Given the description of an element on the screen output the (x, y) to click on. 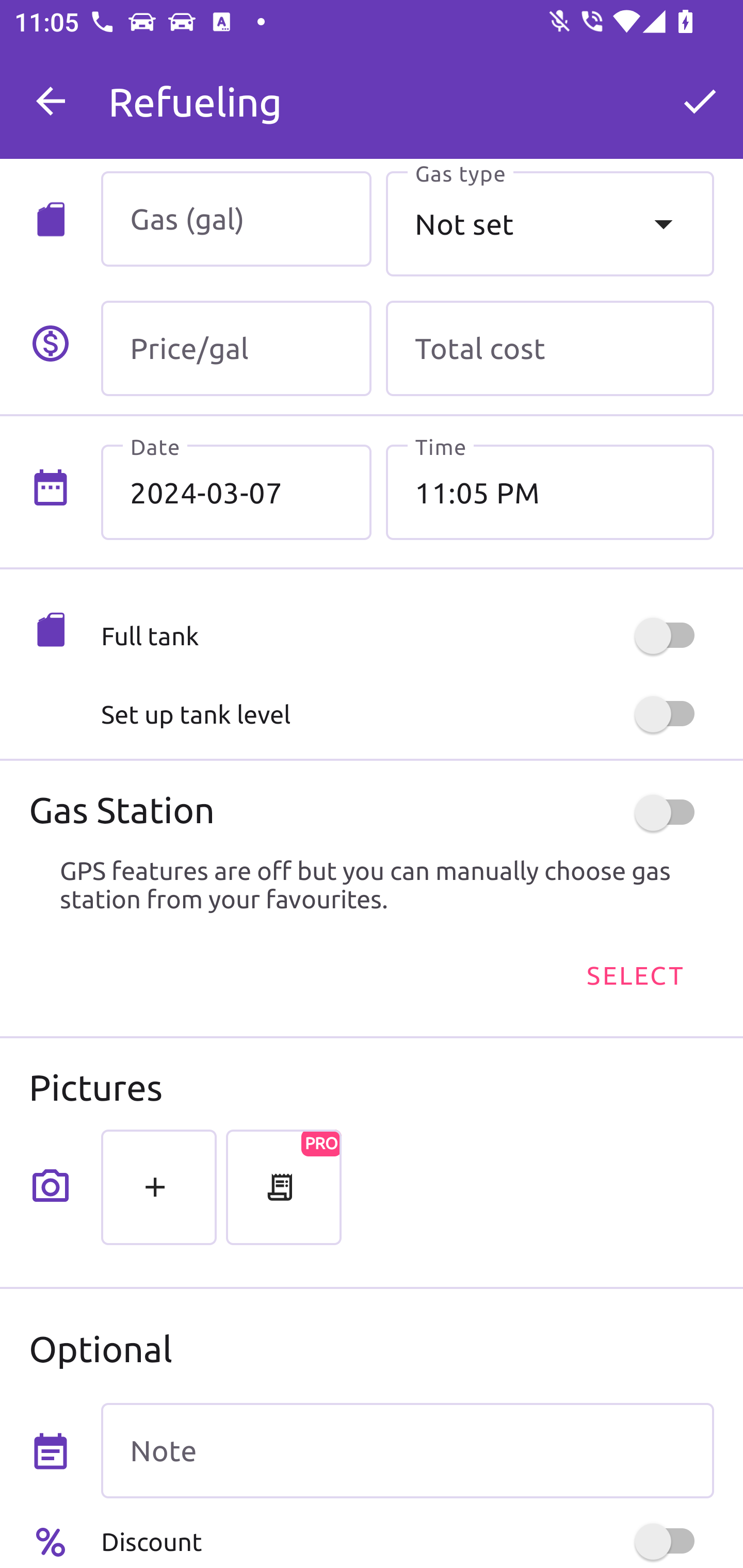
M My Car 0 km (407, 92)
Navigate up (50, 101)
OK (699, 101)
Gas (gal) (236, 218)
Not set (549, 222)
Price/gal (236, 348)
Total cost  (549, 348)
2024-03-07 (236, 492)
11:05 PM (549, 492)
Full tank (407, 635)
Set up tank level (407, 713)
SELECT (634, 974)
Note (407, 1451)
Discount (407, 1541)
